Given the description of an element on the screen output the (x, y) to click on. 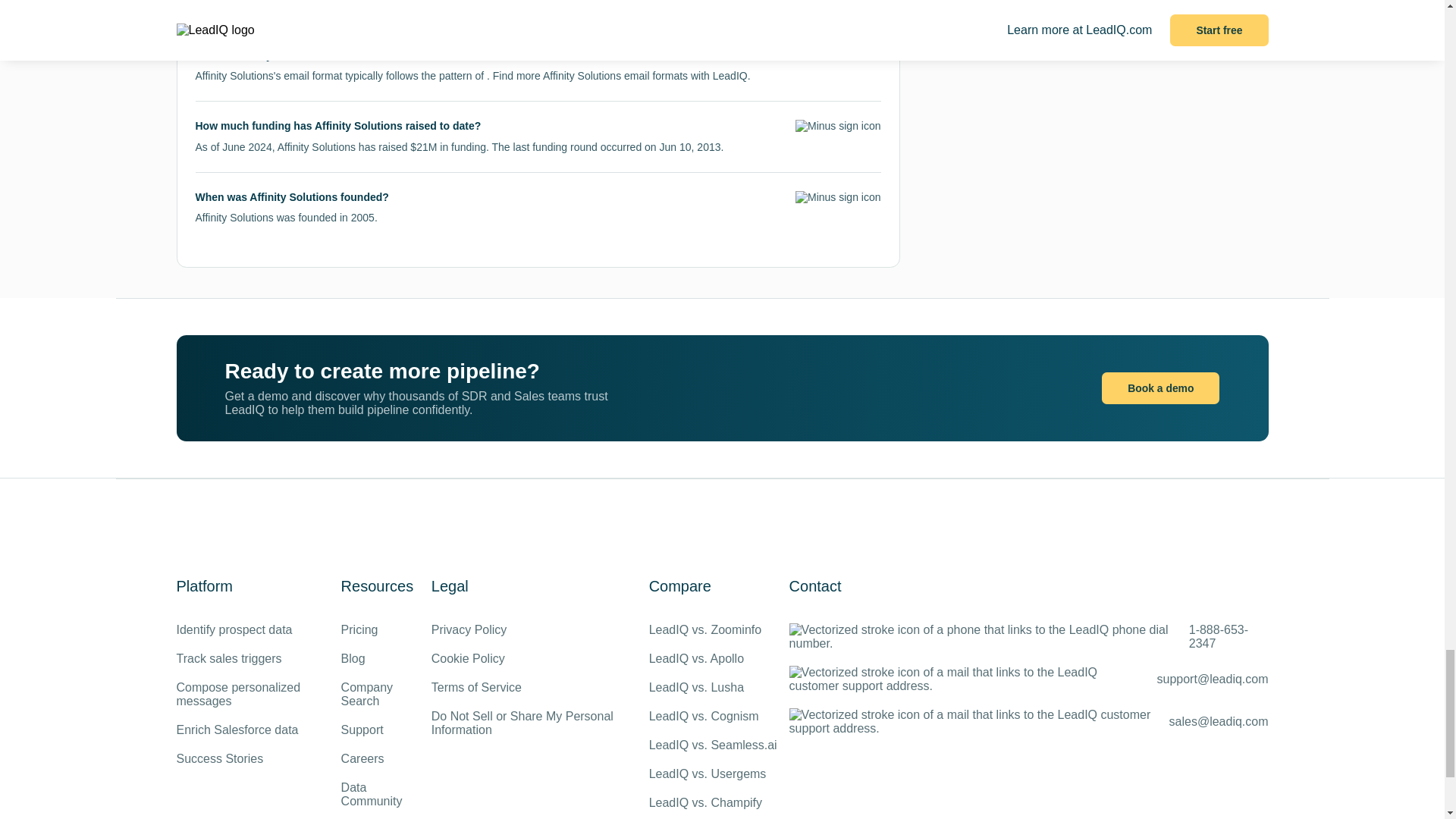
Find more Affinity Solutions email formats (590, 75)
